Given the description of an element on the screen output the (x, y) to click on. 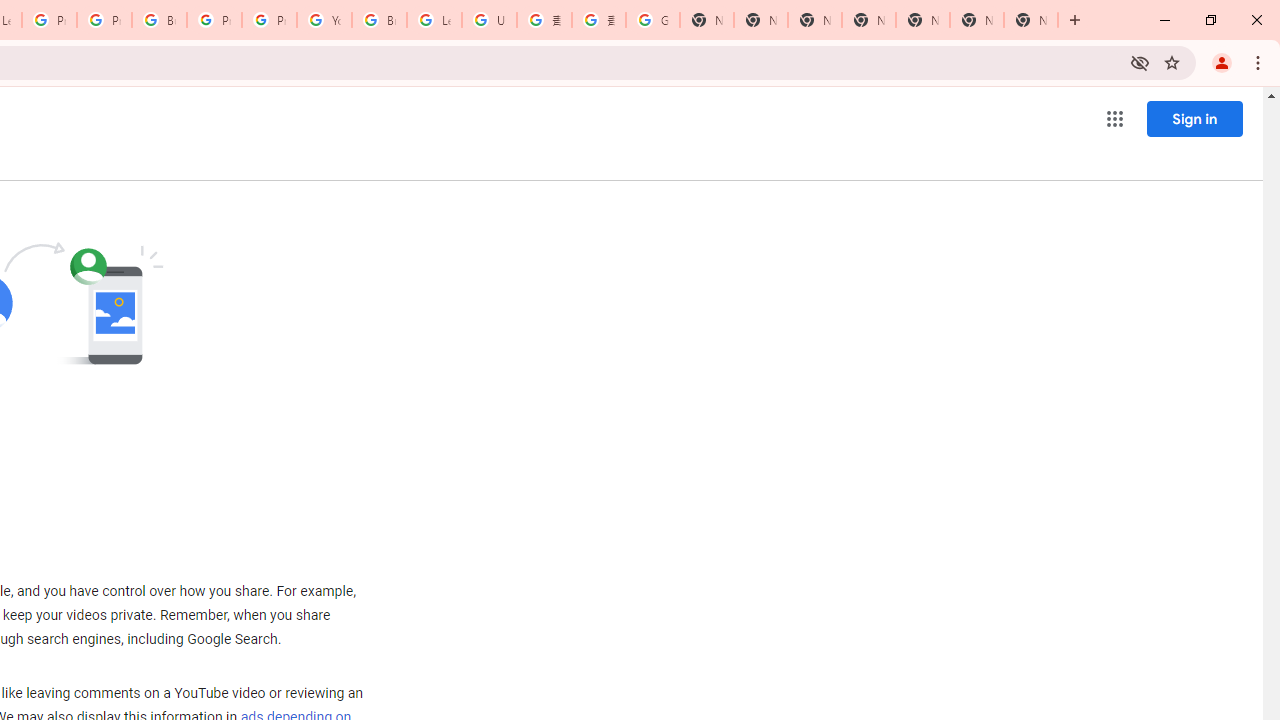
Privacy Help Center - Policies Help (48, 20)
Privacy Help Center - Policies Help (103, 20)
